Given the description of an element on the screen output the (x, y) to click on. 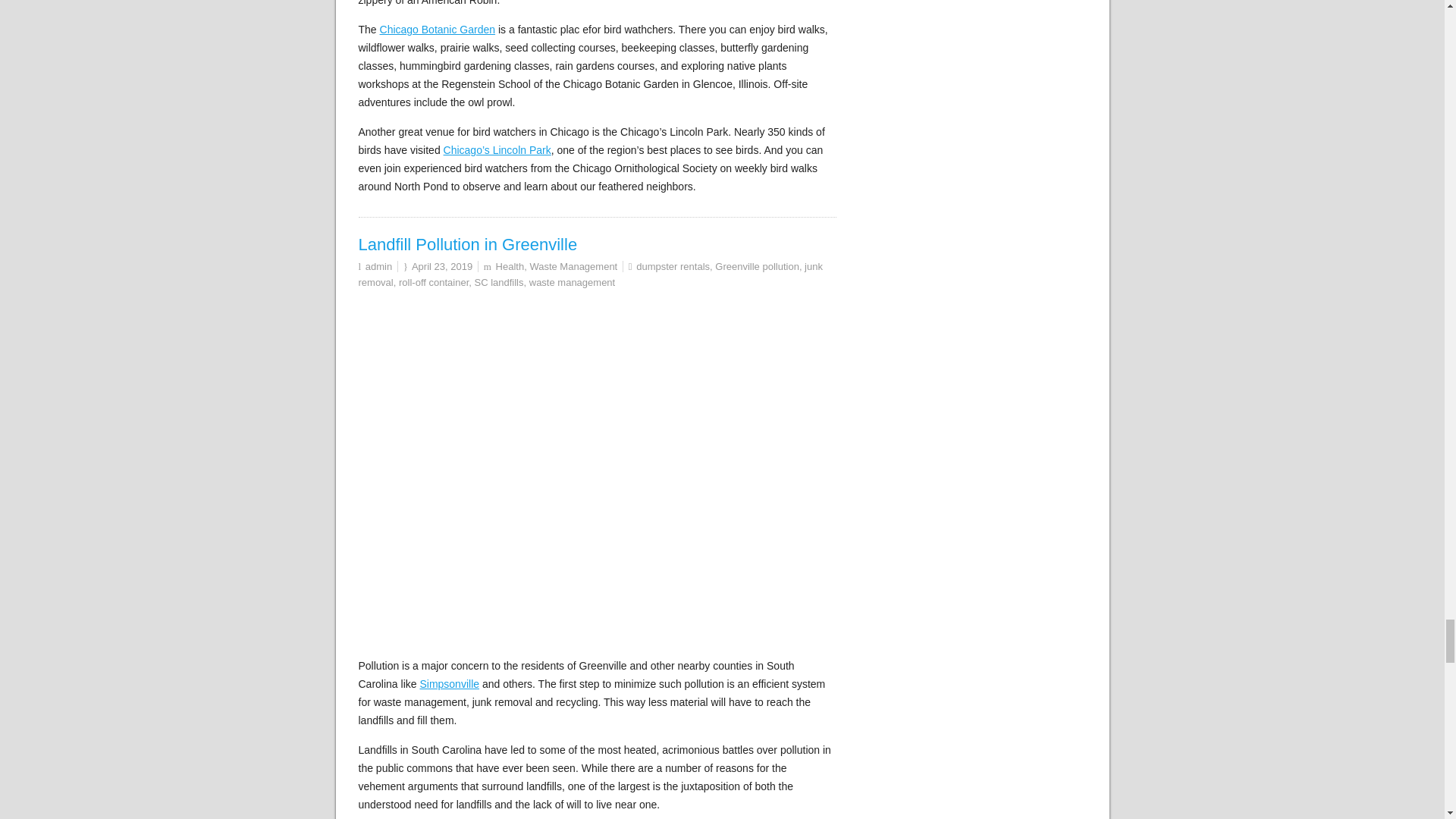
Posts by admin (378, 266)
